Given the description of an element on the screen output the (x, y) to click on. 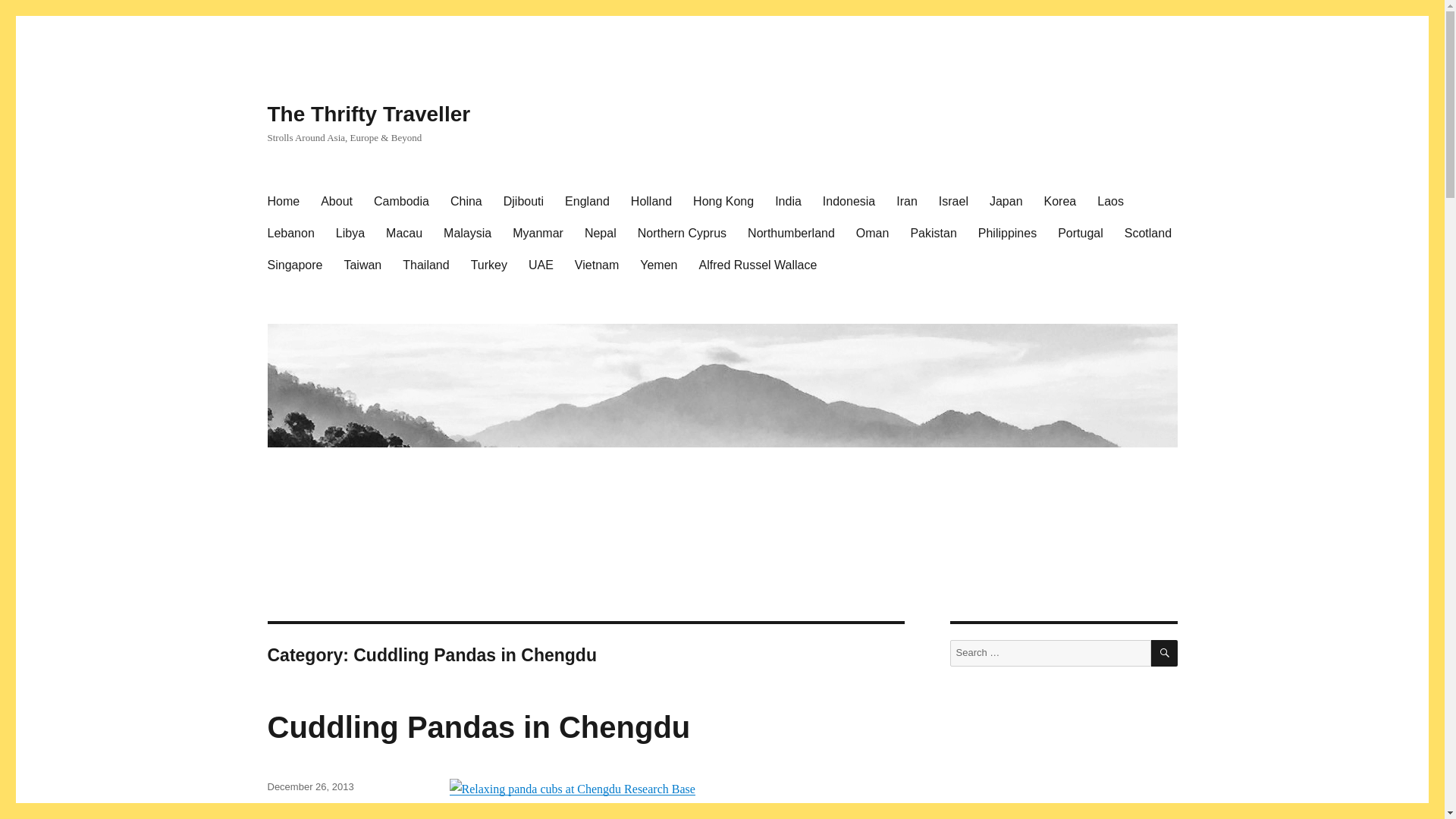
Relaxing panda cubs at Chengdu Research Base (571, 789)
England (587, 201)
Korea (1060, 201)
Israel (953, 201)
Lebanon (290, 233)
About (336, 201)
Alfred Russel Wallace (758, 265)
Turkey (489, 265)
Hong Kong (723, 201)
India (788, 201)
Myanmar (537, 233)
Philippines (1007, 233)
Northern Cyprus (681, 233)
Holland (651, 201)
Indonesia (848, 201)
